Given the description of an element on the screen output the (x, y) to click on. 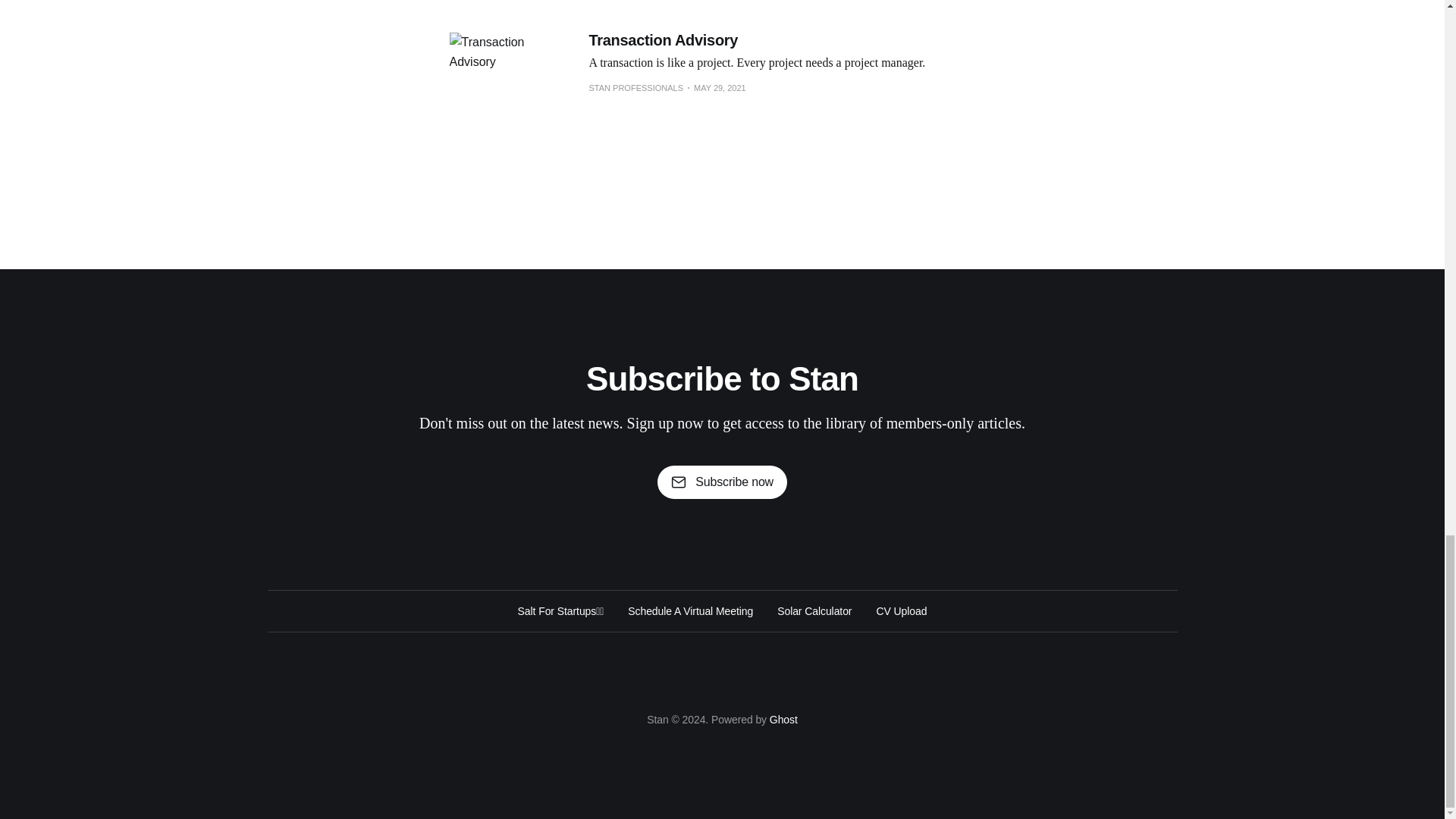
Schedule A Virtual Meeting (689, 610)
Ghost (783, 719)
Subscribe now (722, 482)
CV Upload (901, 610)
Solar Calculator (814, 610)
